Given the description of an element on the screen output the (x, y) to click on. 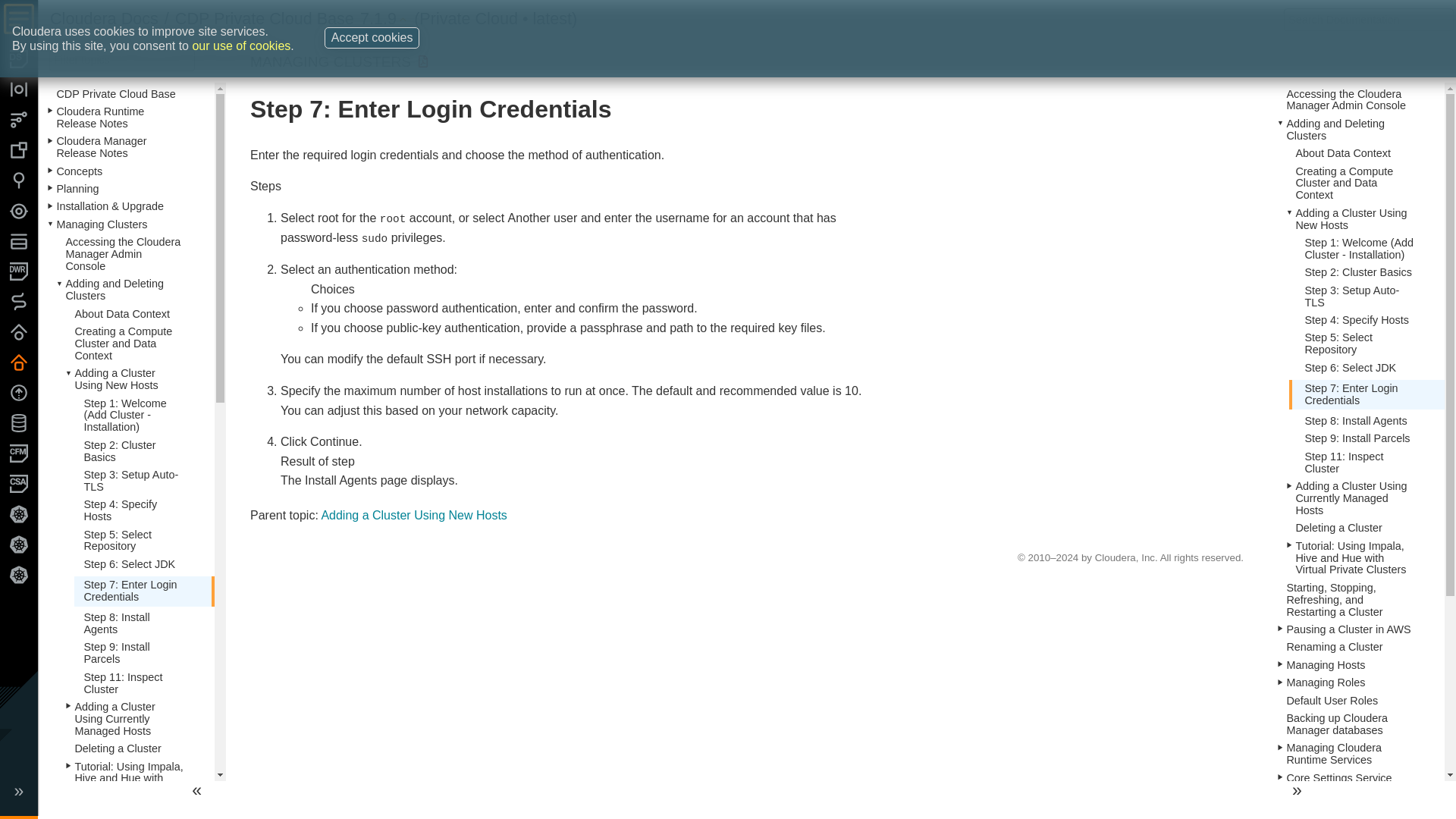
CDP Private Cloud Base (263, 18)
Cloudera Docs (103, 18)
